Given the description of an element on the screen output the (x, y) to click on. 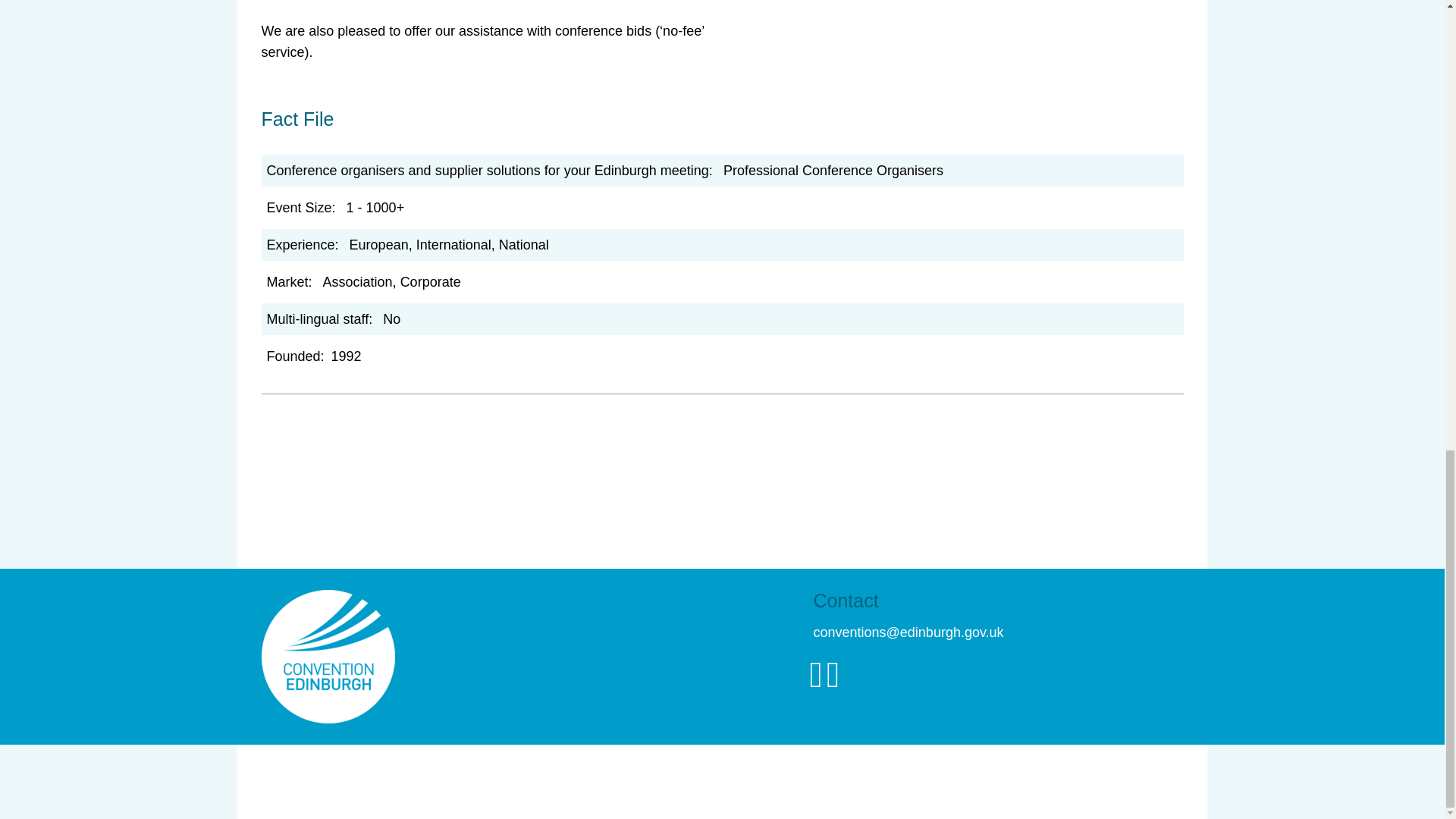
Professional Conference Organisers (833, 170)
